Given the description of an element on the screen output the (x, y) to click on. 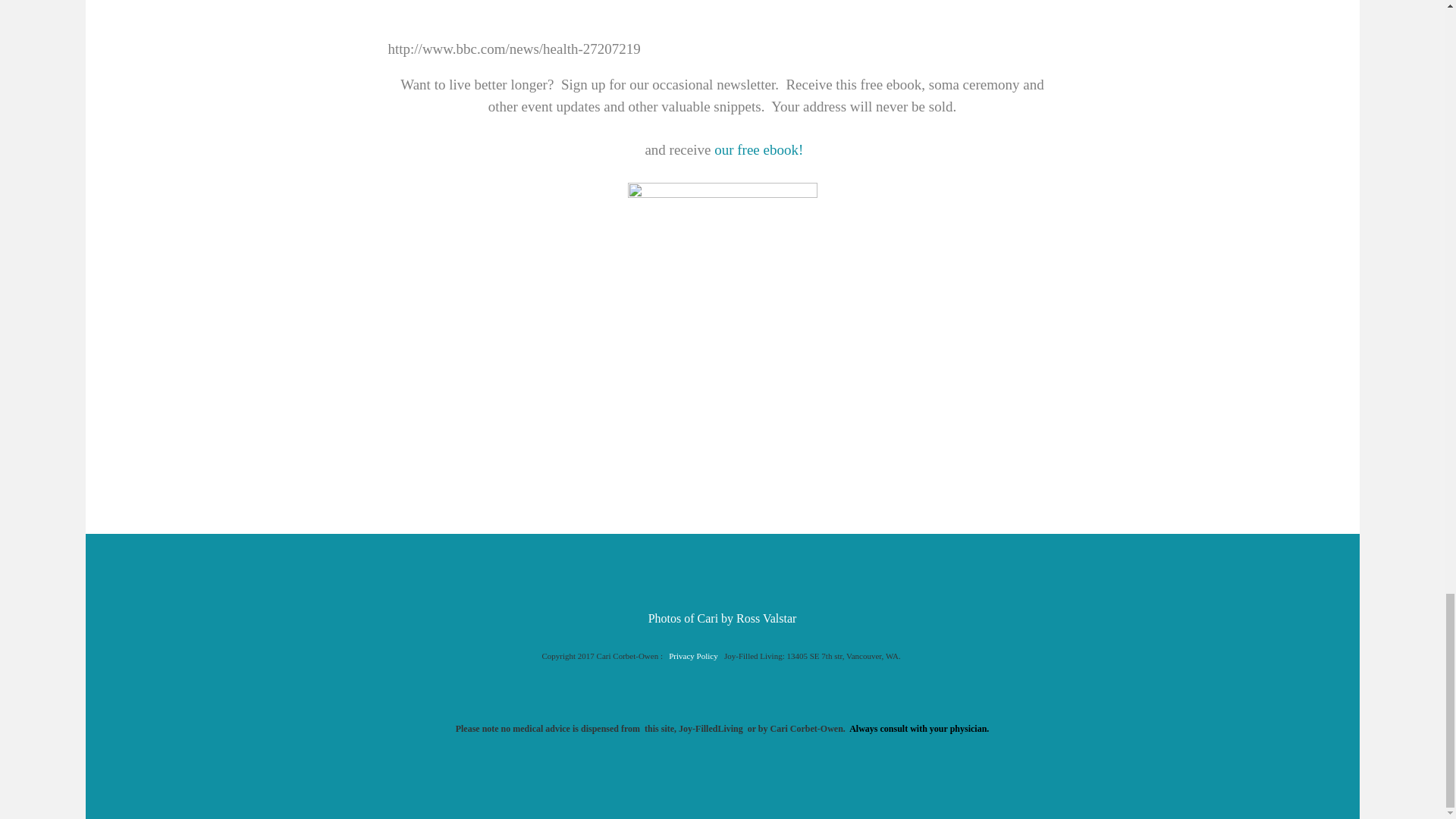
  Privacy Policy (691, 655)
 our free ebook! (756, 149)
